Given the description of an element on the screen output the (x, y) to click on. 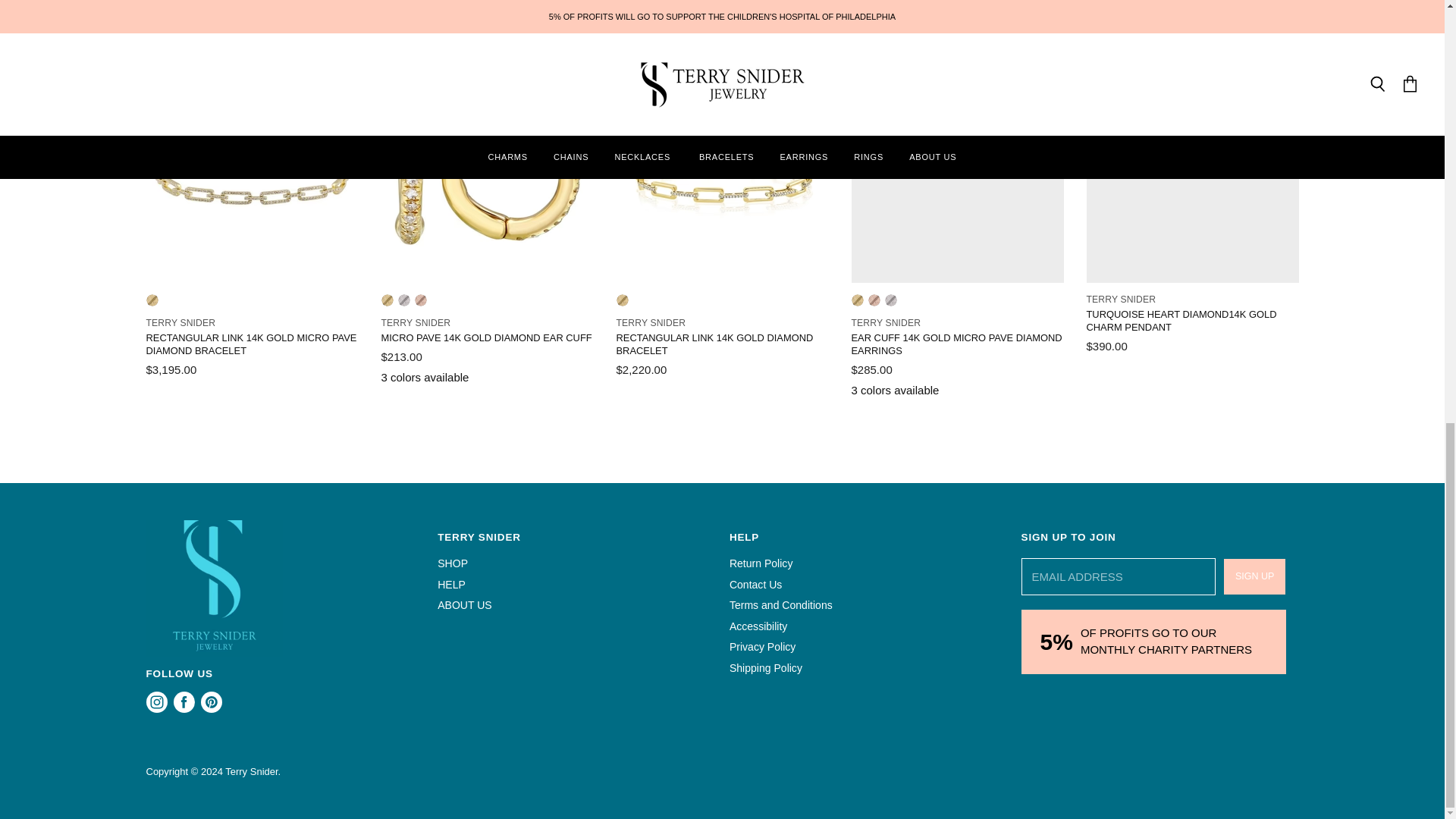
Facebook (183, 701)
Pinterest (210, 701)
Instagram (156, 701)
